Given the description of an element on the screen output the (x, y) to click on. 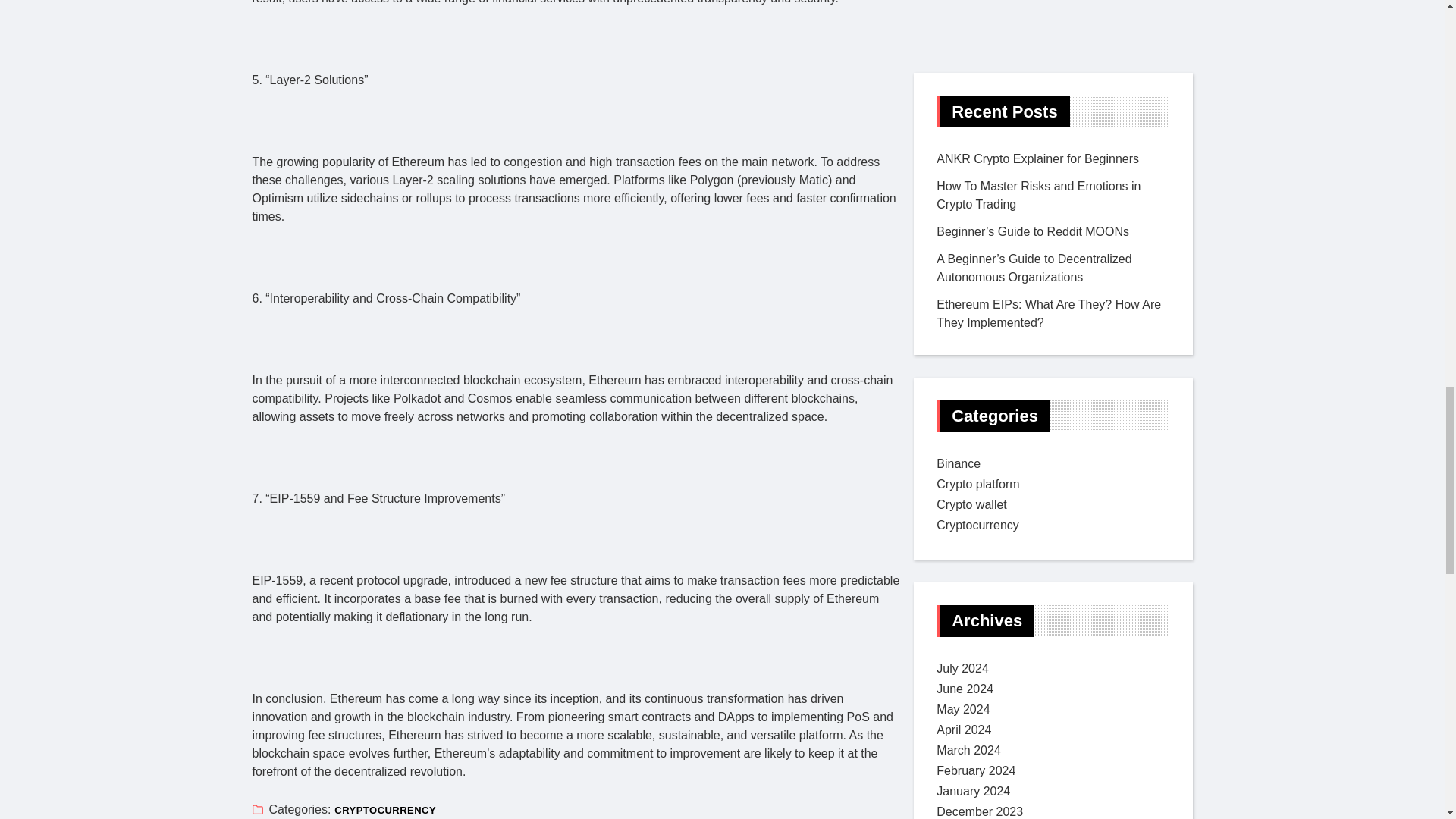
CRYPTOCURRENCY (384, 809)
